Given the description of an element on the screen output the (x, y) to click on. 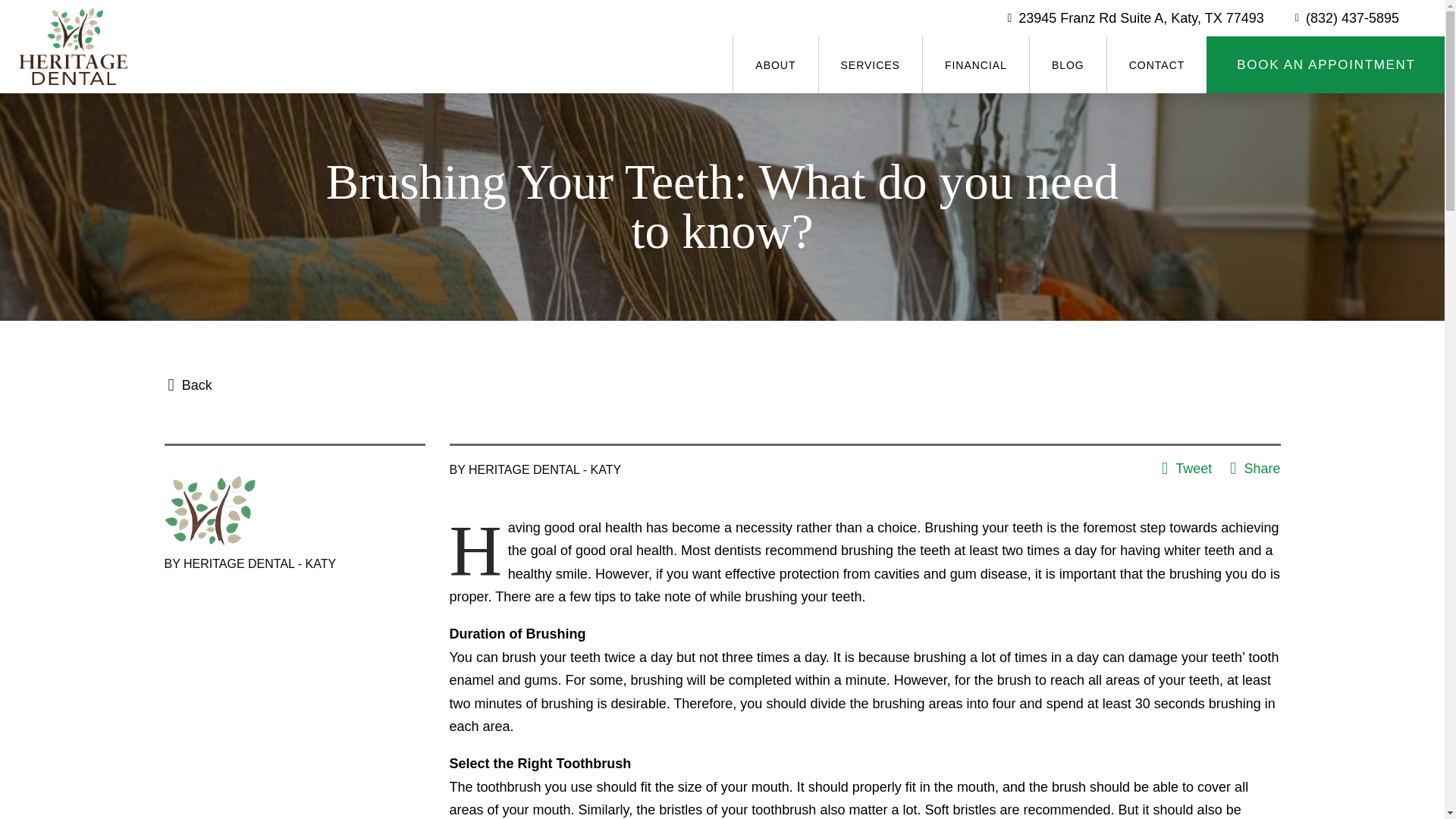
Tweet (1186, 468)
SERVICES (868, 64)
Back (189, 385)
BOOK AN APPOINTMENT (1325, 64)
FINANCIAL (975, 64)
ABOUT (774, 64)
23945 Franz Rd Suite A, Katy, TX 77493 (1135, 18)
BLOG (1067, 64)
CONTACT (1156, 64)
